Given the description of an element on the screen output the (x, y) to click on. 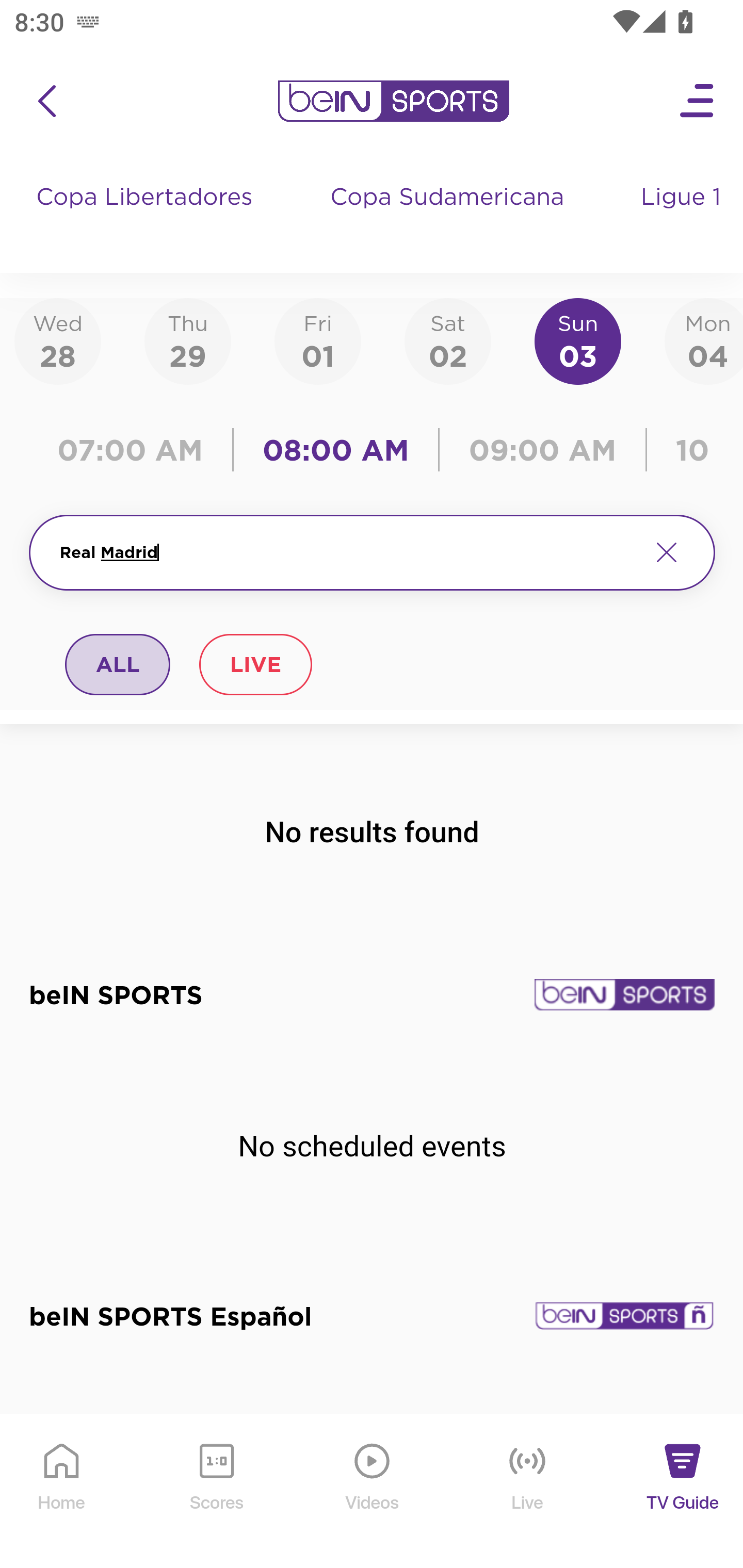
en-us?platform=mobile_android bein logo (392, 101)
icon back (46, 101)
Open Menu Icon (697, 101)
Copa Libertadores (146, 216)
Copa Sudamericana (448, 216)
Ligue 1 (682, 216)
Wed28 (58, 340)
Thu29 (187, 340)
Fri01 (318, 340)
Sat02 (447, 340)
Sun03 (578, 340)
Mon04 (703, 340)
07:00 AM (135, 449)
08:00 AM (336, 449)
09:00 AM (542, 449)
Real Madrid (346, 552)
ALL (118, 663)
LIVE (255, 663)
Home Home Icon Home (61, 1491)
Scores Scores Icon Scores (216, 1491)
Videos Videos Icon Videos (372, 1491)
TV Guide TV Guide Icon TV Guide (682, 1491)
